Given the description of an element on the screen output the (x, y) to click on. 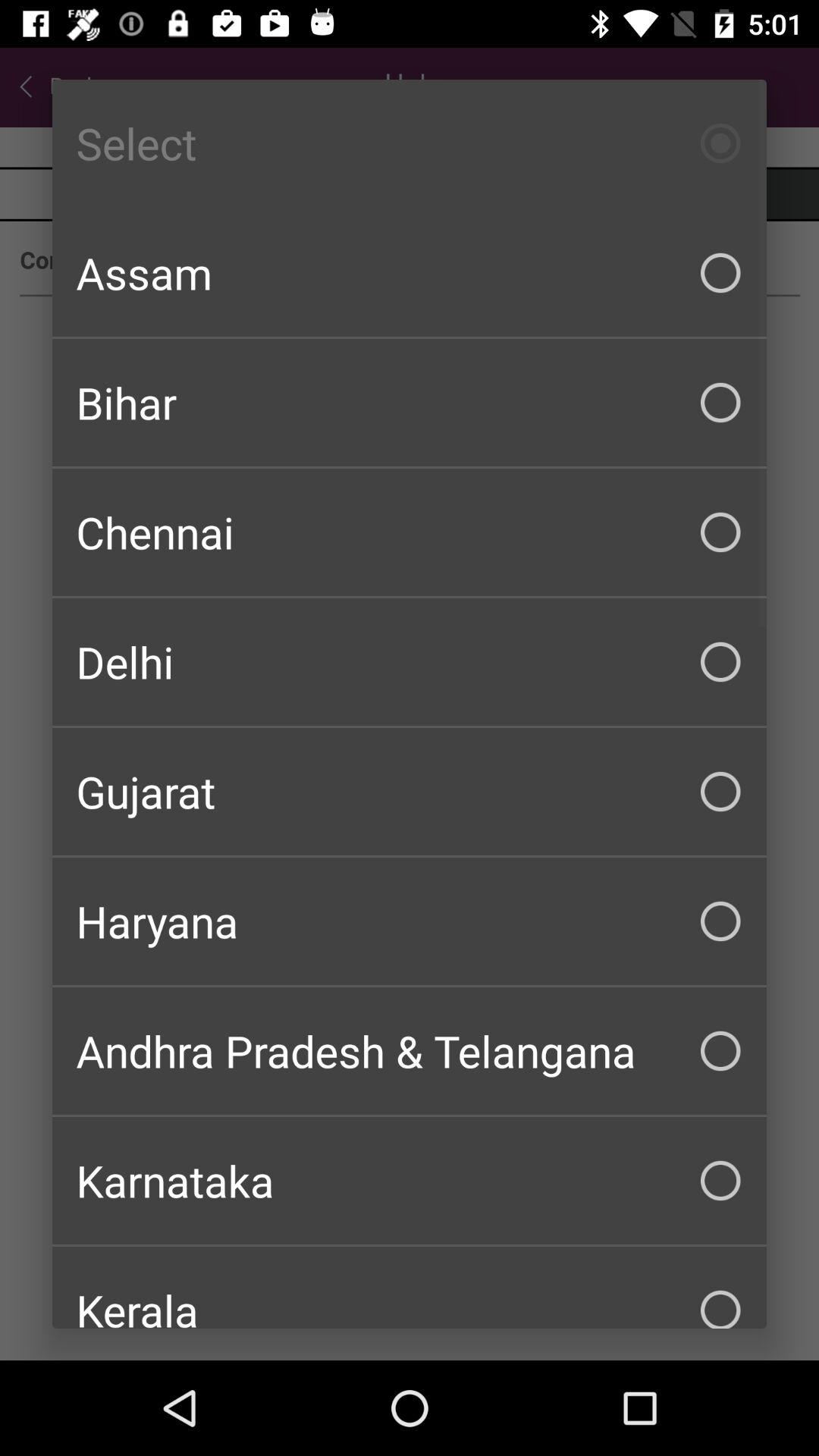
click checkbox below karnataka checkbox (409, 1287)
